Given the description of an element on the screen output the (x, y) to click on. 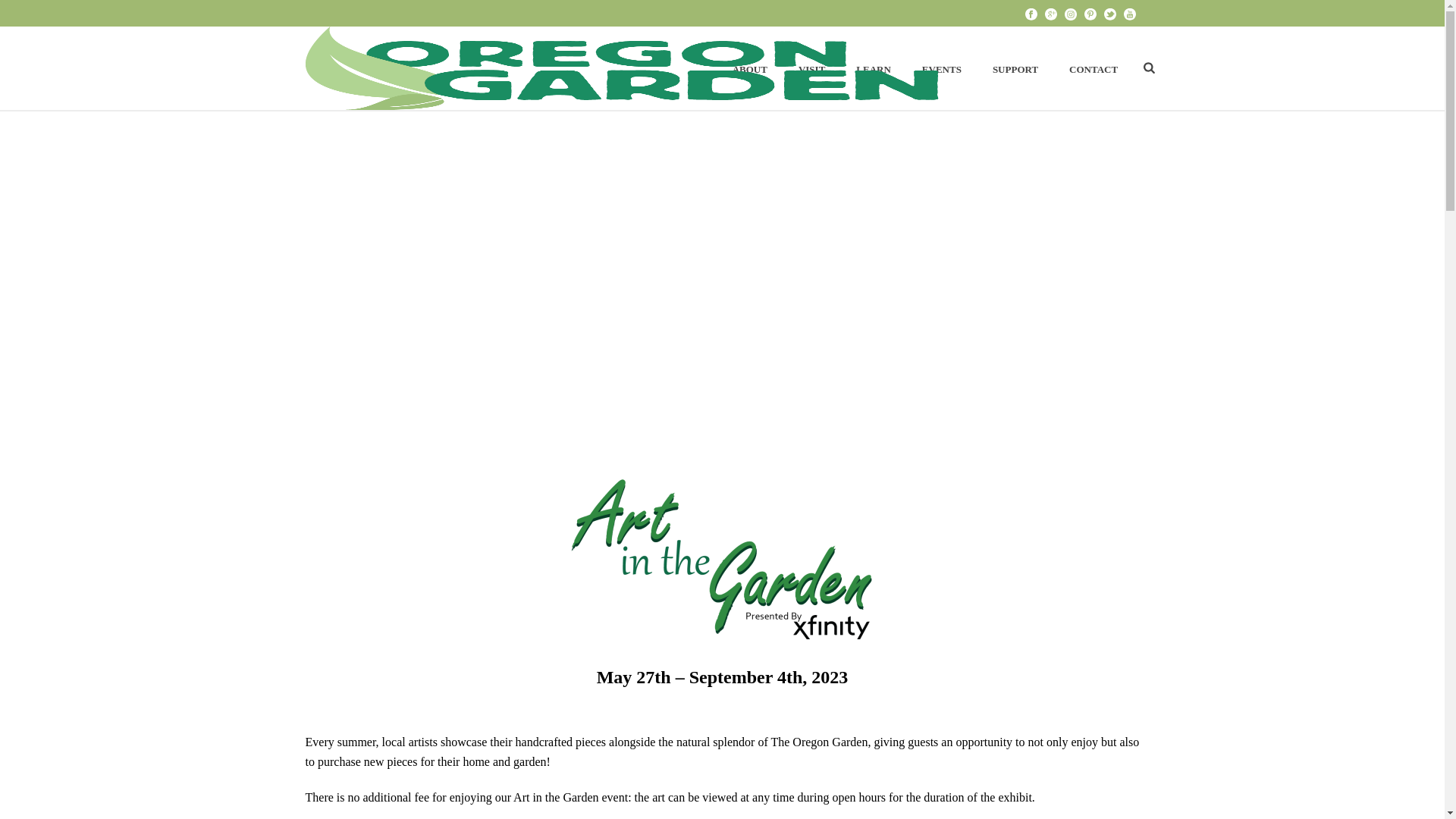
aitg-logo-2023 (721, 552)
SUPPORT (1014, 67)
The Oregon Garden (620, 67)
CONTACT (1093, 67)
CONTACT (1093, 67)
SUPPORT (1014, 67)
